Given the description of an element on the screen output the (x, y) to click on. 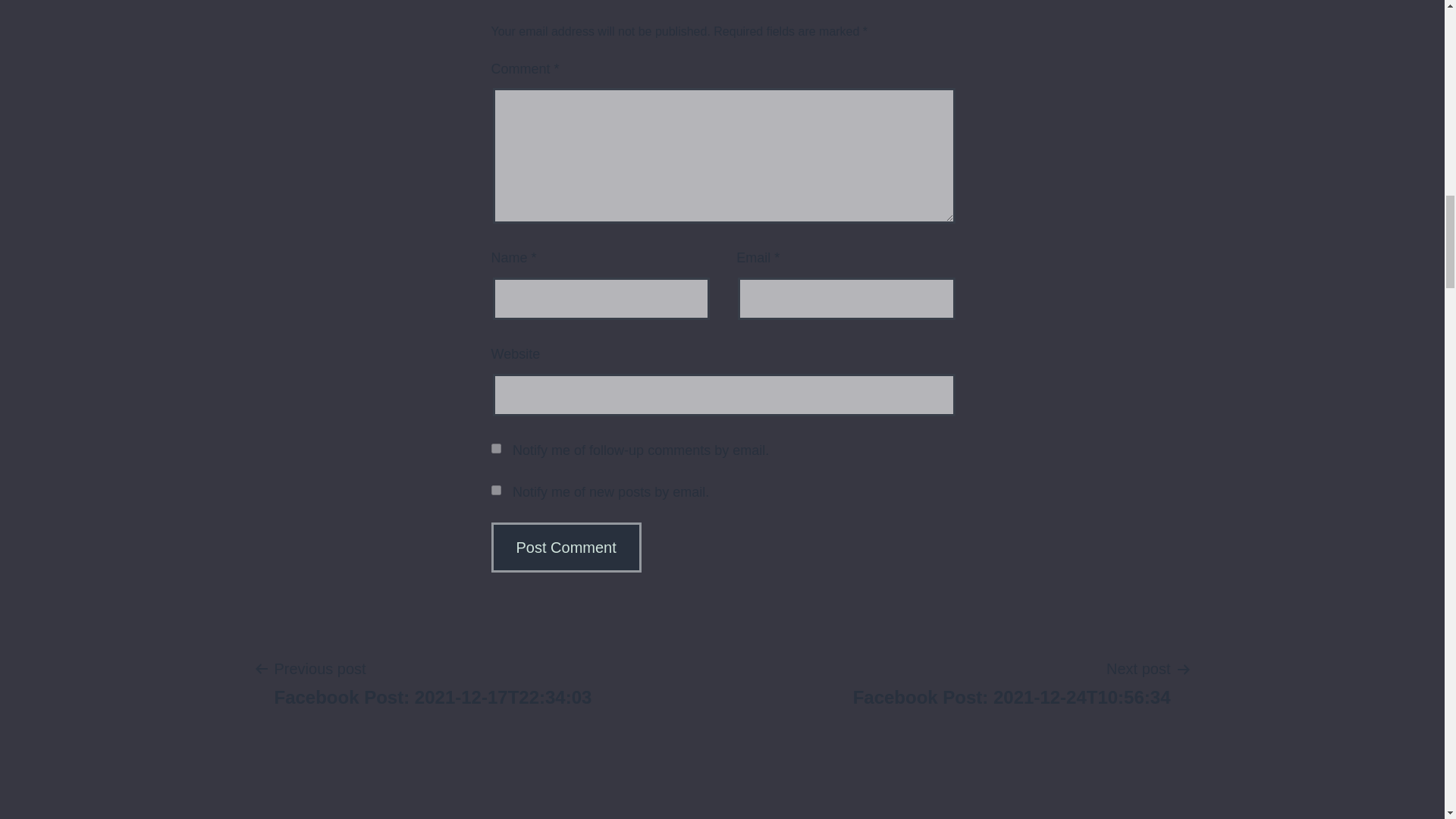
Post Comment (431, 682)
Post Comment (1011, 682)
